Given the description of an element on the screen output the (x, y) to click on. 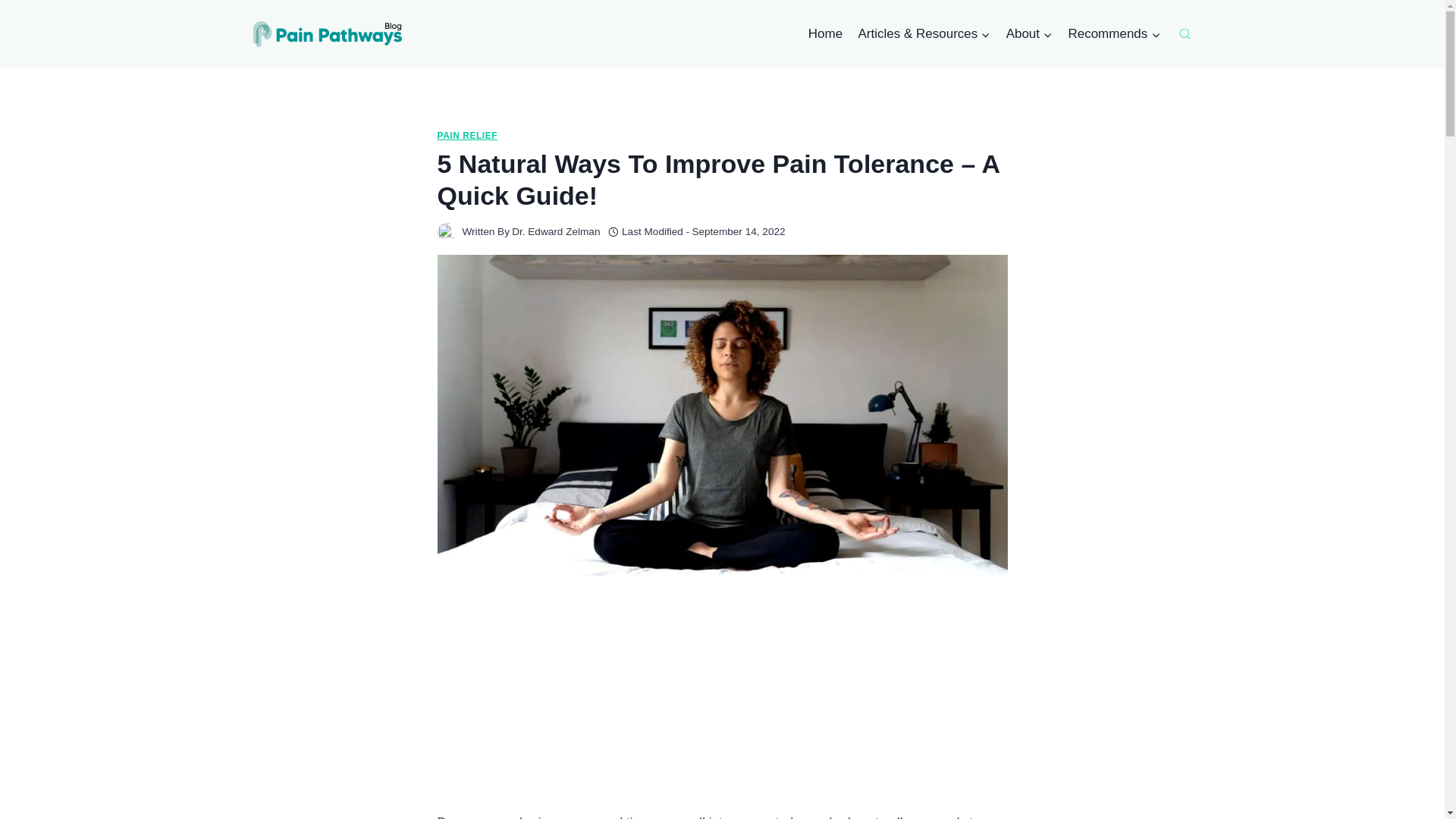
Recommends (1113, 33)
About (1028, 33)
Home (825, 33)
Advertisement (721, 705)
